Given the description of an element on the screen output the (x, y) to click on. 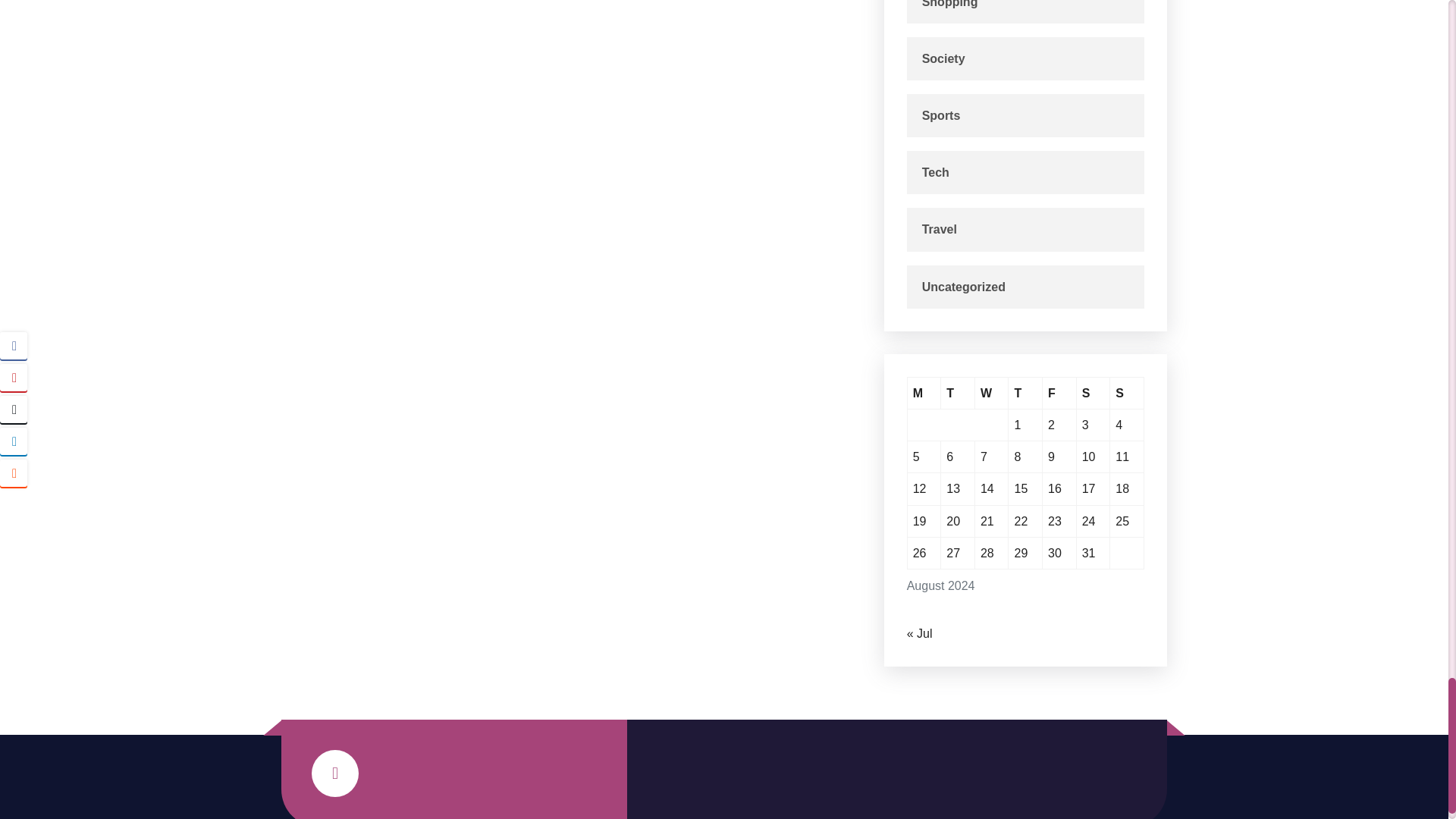
Wednesday (992, 393)
Sunday (1126, 393)
Friday (1059, 393)
Monday (924, 393)
Tuesday (957, 393)
Saturday (1093, 393)
Thursday (1025, 393)
